Given the description of an element on the screen output the (x, y) to click on. 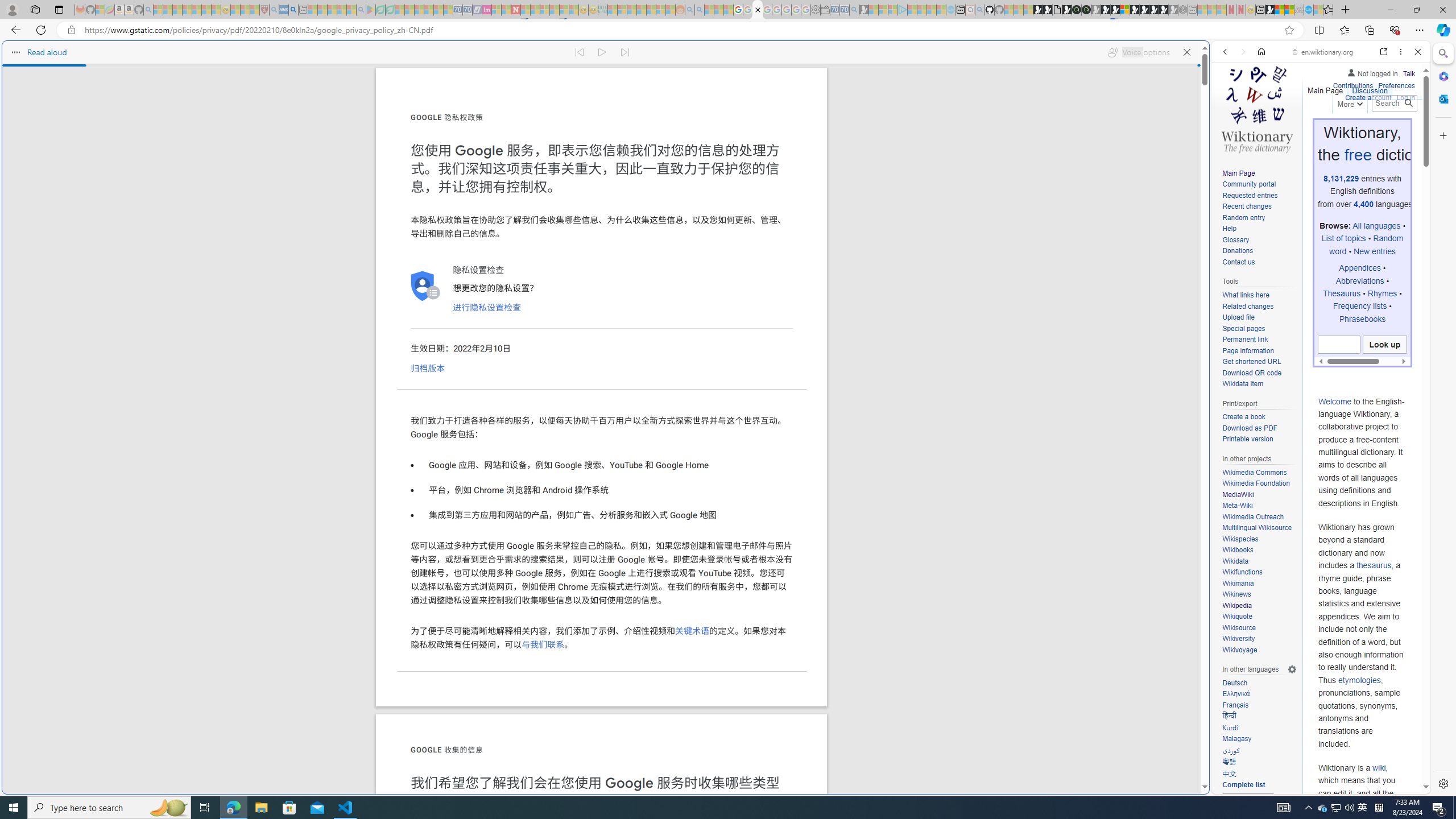
Multilingual Wikisource (1259, 527)
Community portal (1248, 184)
All languages (1376, 225)
MediaWiki (1237, 494)
Donations (1259, 251)
Random entry (1243, 216)
Not logged in (1371, 71)
